Given the description of an element on the screen output the (x, y) to click on. 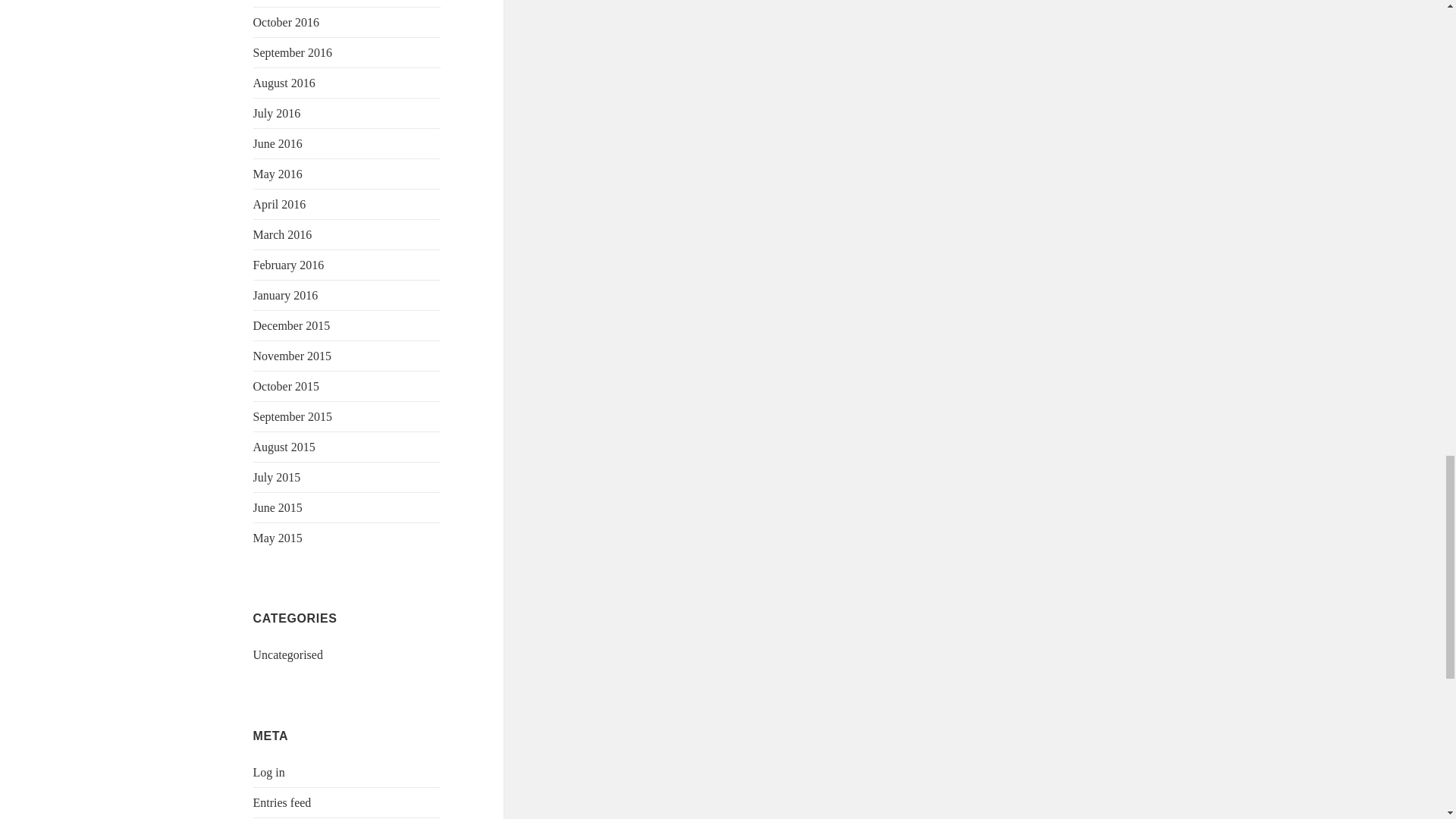
July 2016 (277, 113)
September 2016 (292, 51)
August 2016 (284, 82)
June 2016 (277, 143)
October 2016 (286, 21)
